Given the description of an element on the screen output the (x, y) to click on. 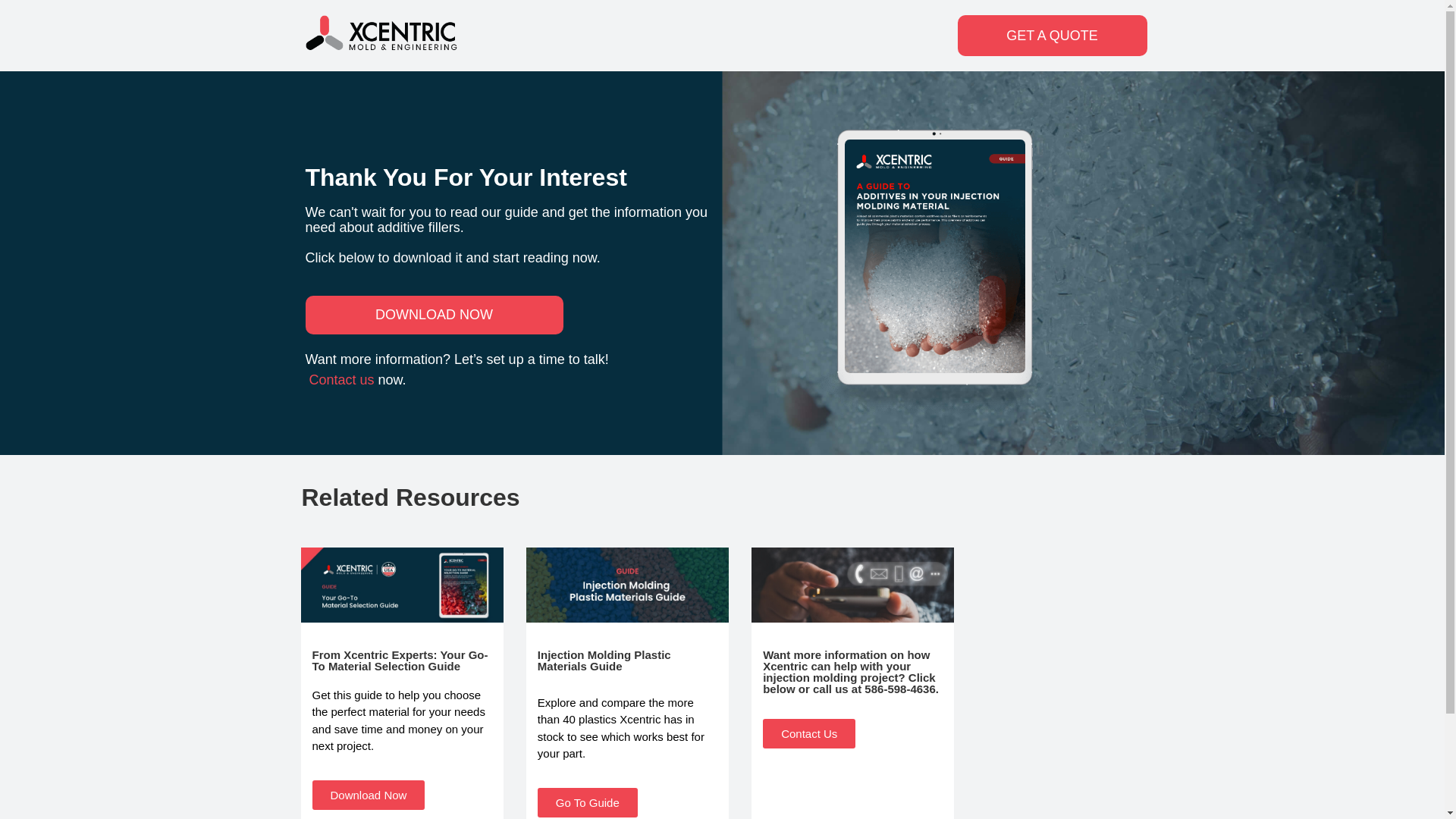
GET A QUOTE (1051, 35)
Contact Us (809, 733)
DOWNLOAD NOW (433, 314)
Contact us (343, 379)
Download Now (369, 794)
DOWNLOAD NOW (433, 314)
Go To Guide (587, 802)
